Given the description of an element on the screen output the (x, y) to click on. 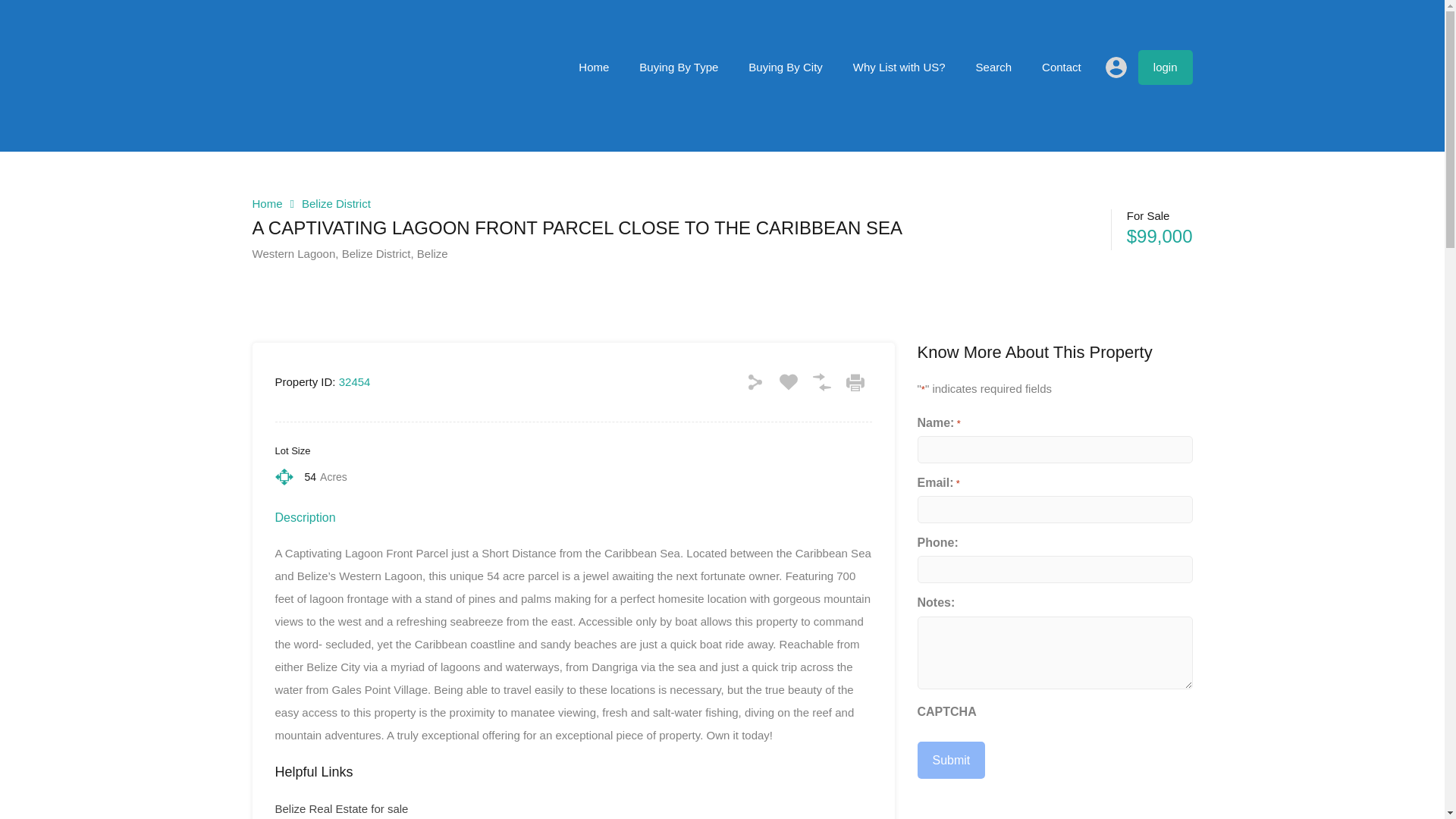
Submit (951, 760)
Belize Real Estate MLS (308, 111)
